Given the description of an element on the screen output the (x, y) to click on. 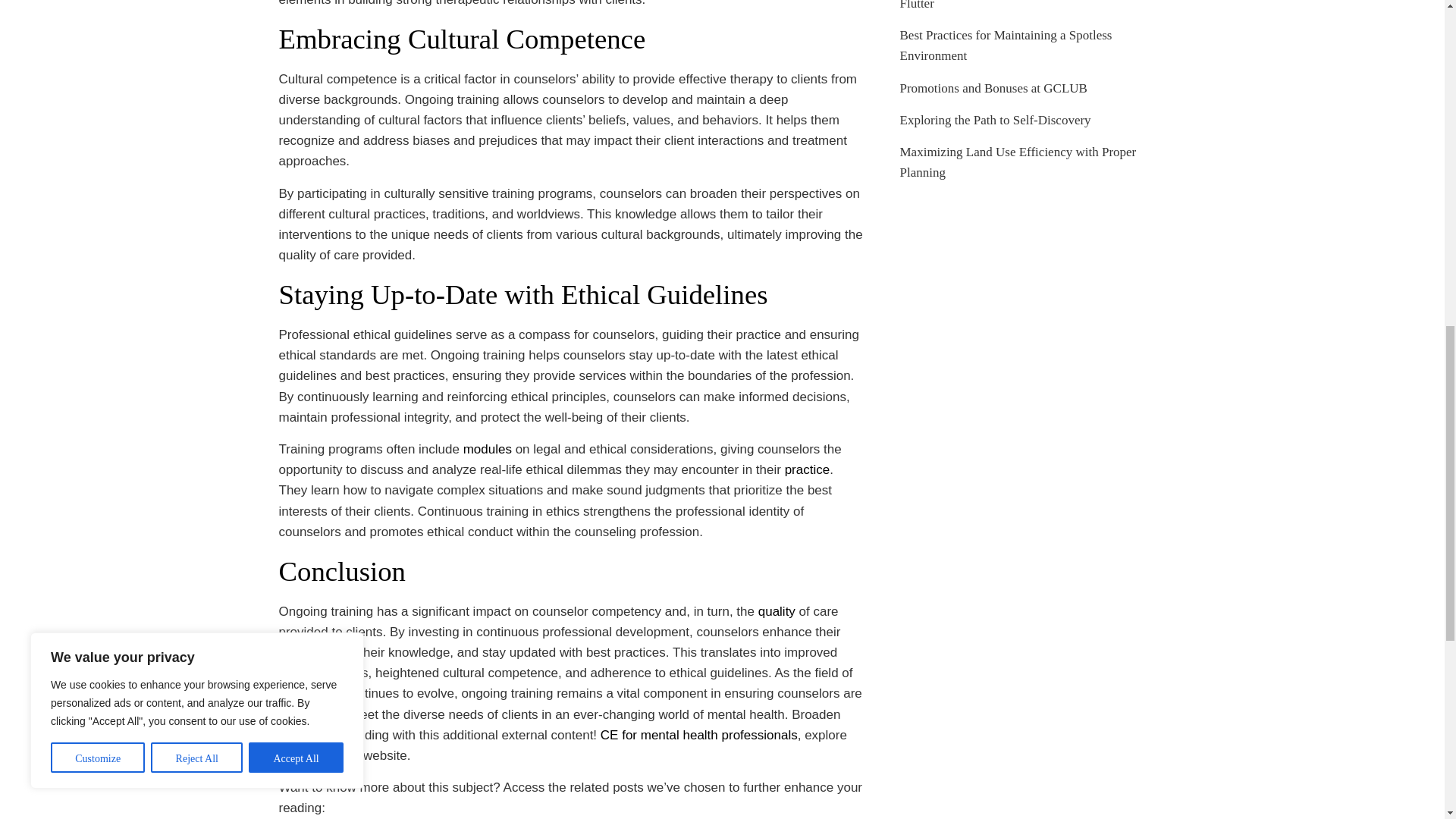
quality (776, 611)
practice (806, 469)
CE for mental health professionals (698, 735)
The Future of Cross-Platform Development with Flutter (1025, 5)
modules (487, 449)
